Given the description of an element on the screen output the (x, y) to click on. 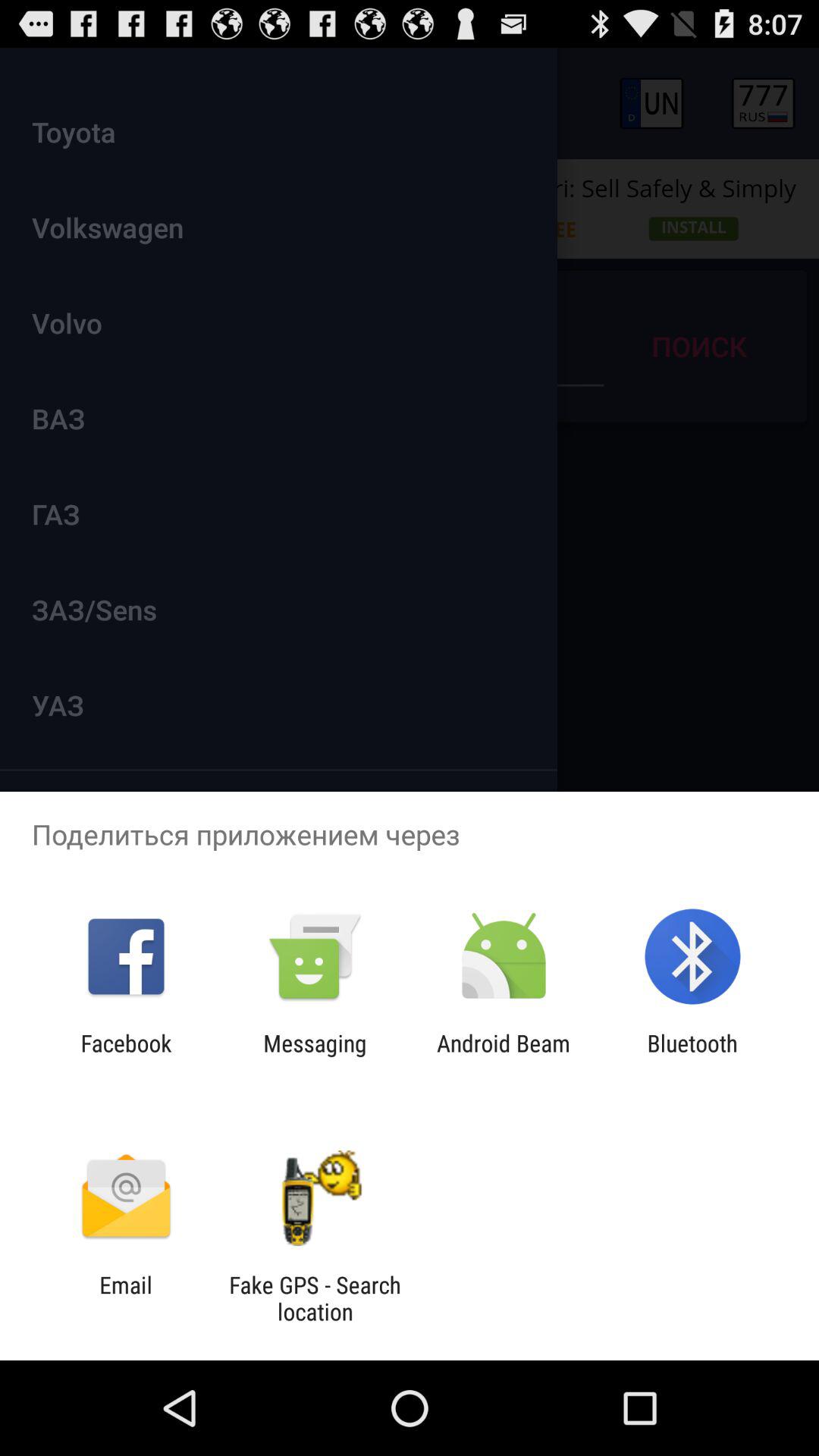
scroll until fake gps search icon (314, 1298)
